Given the description of an element on the screen output the (x, y) to click on. 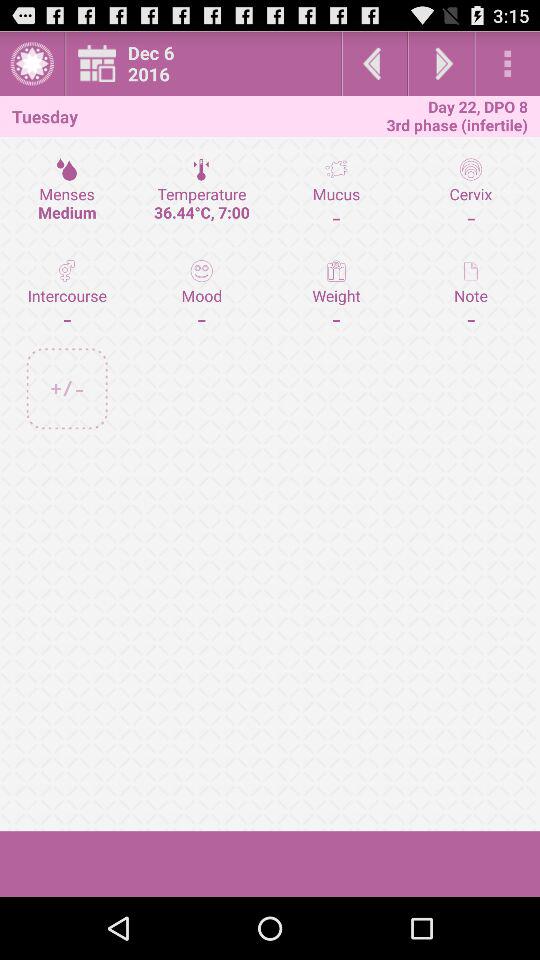
swipe to intercourse
_ icon (67, 294)
